Given the description of an element on the screen output the (x, y) to click on. 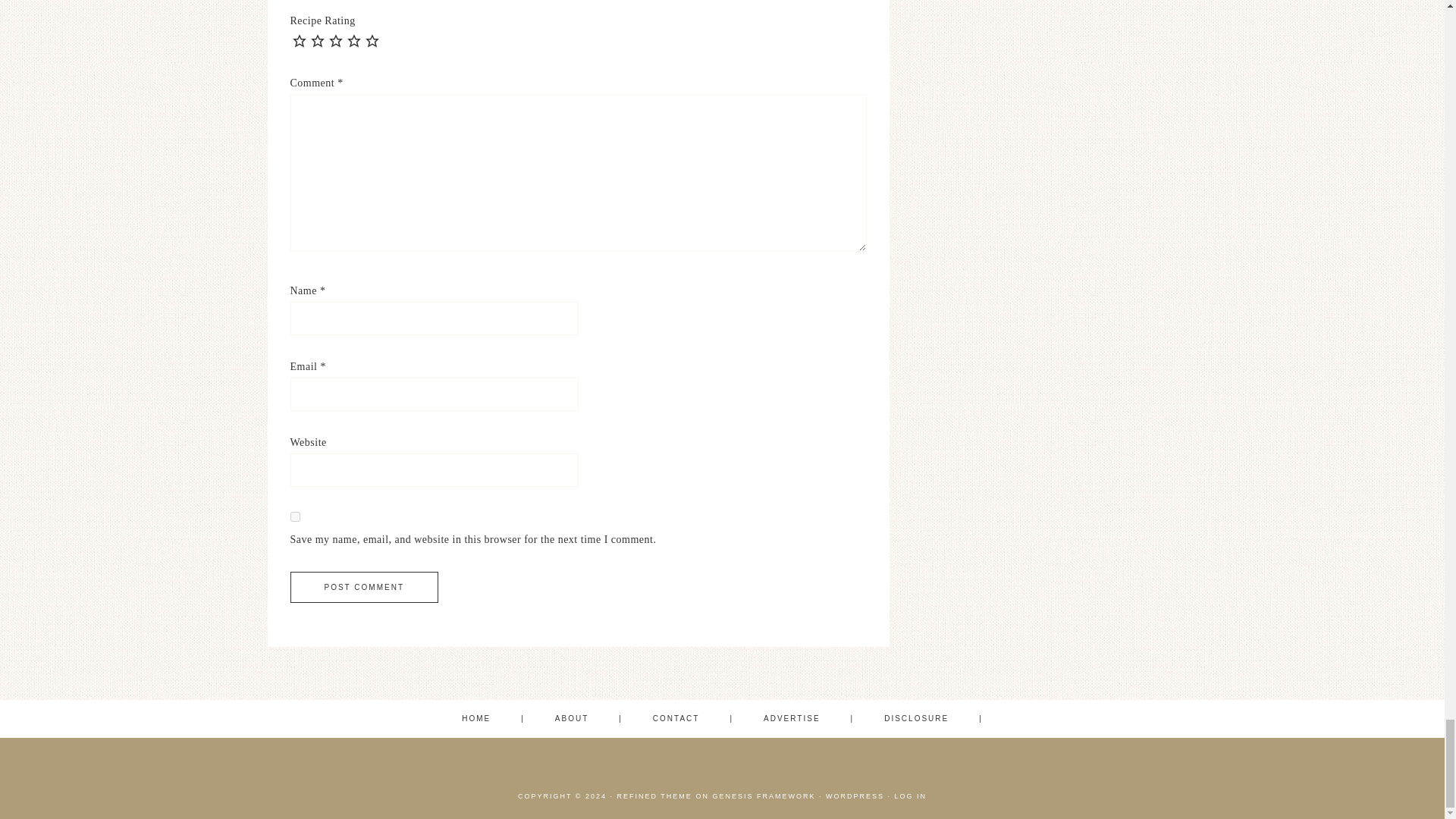
yes (294, 516)
Post Comment (363, 586)
